Given the description of an element on the screen output the (x, y) to click on. 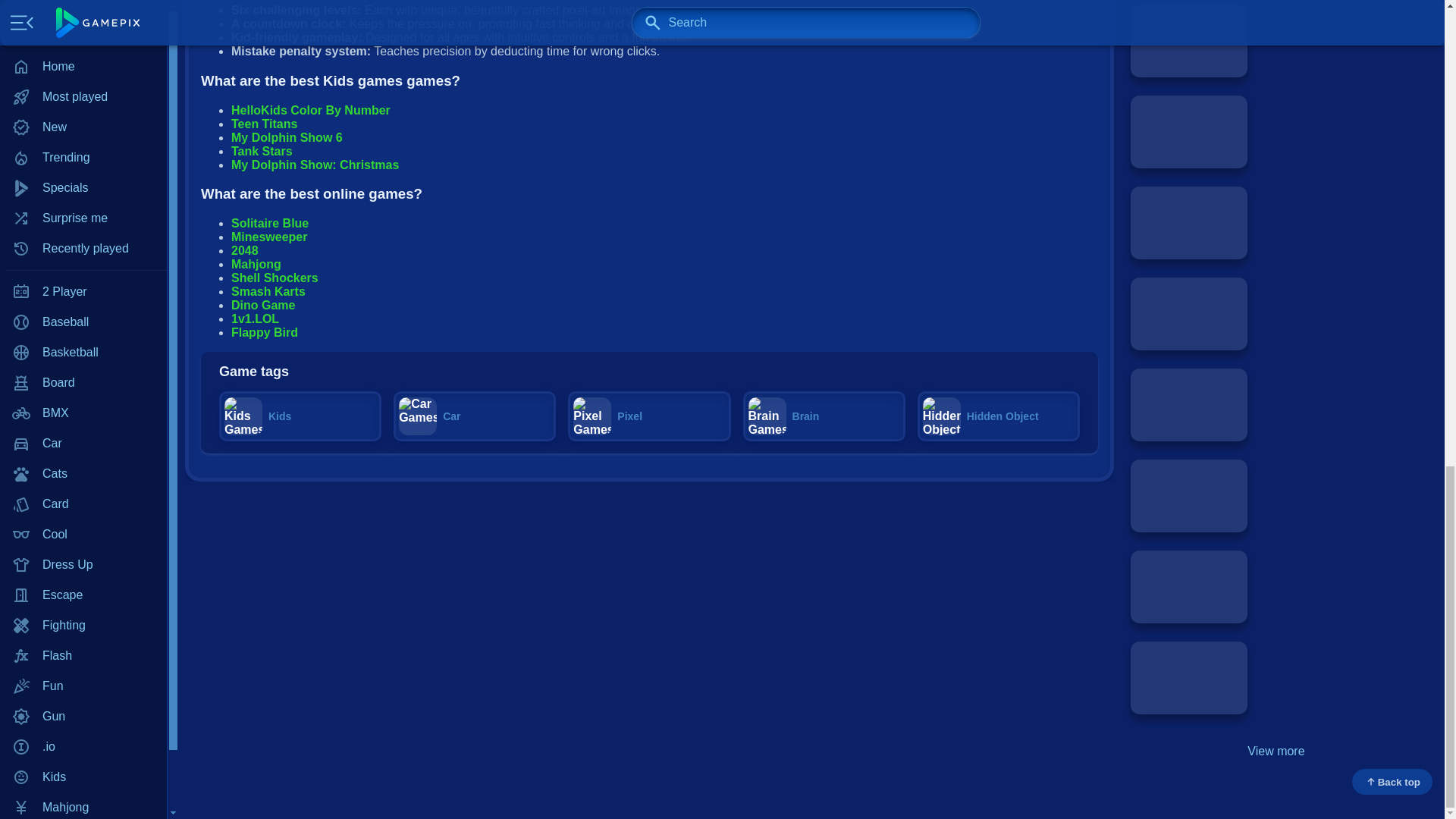
War (83, 49)
Zombie (83, 110)
Snake (83, 2)
Soccer (83, 19)
Word (83, 79)
